Given the description of an element on the screen output the (x, y) to click on. 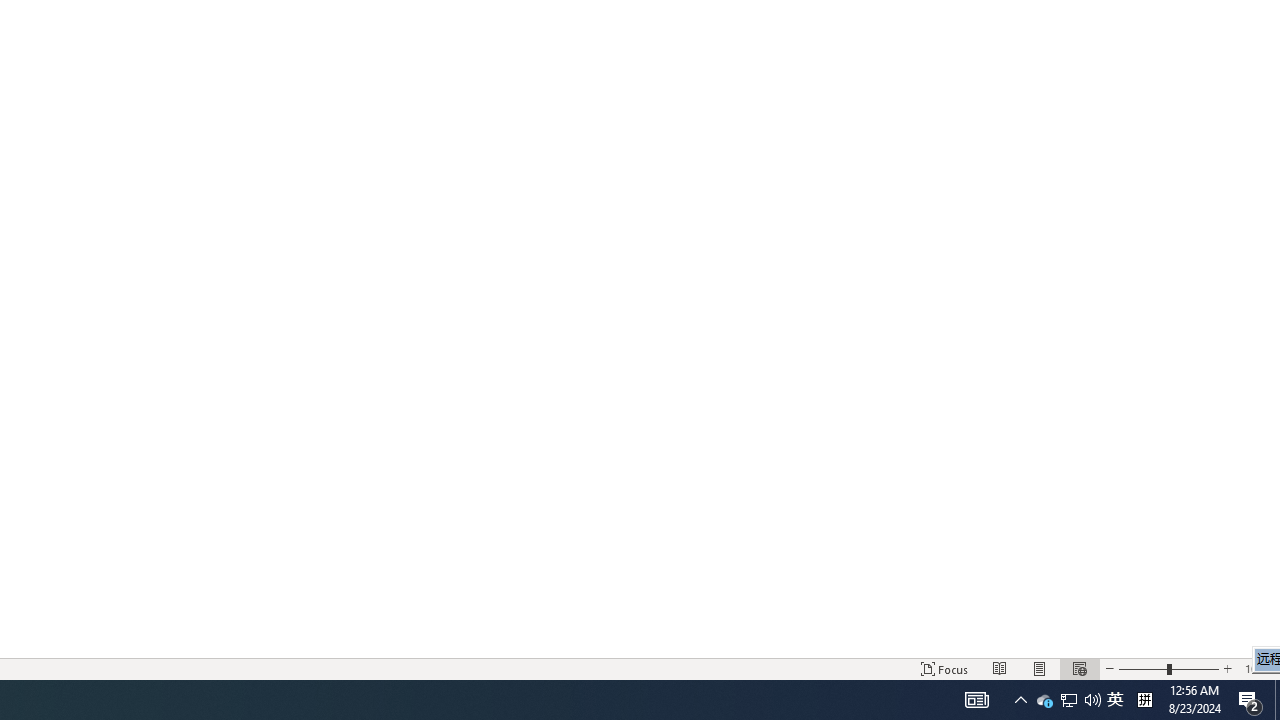
Zoom 100% (1258, 668)
Tray Input Indicator - Chinese (Simplified, China) (1144, 699)
